Given the description of an element on the screen output the (x, y) to click on. 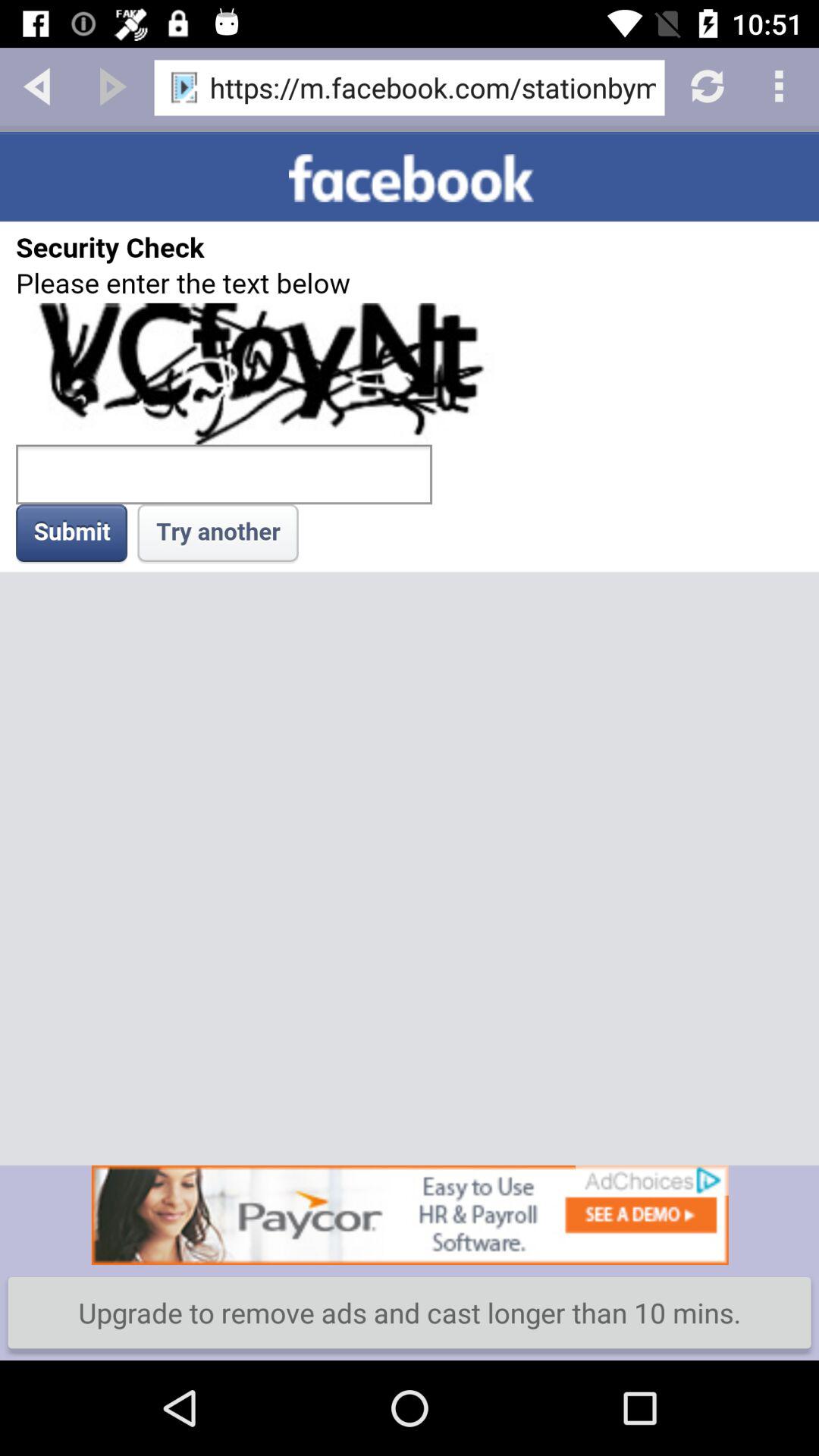
go to back button (37, 85)
